Given the description of an element on the screen output the (x, y) to click on. 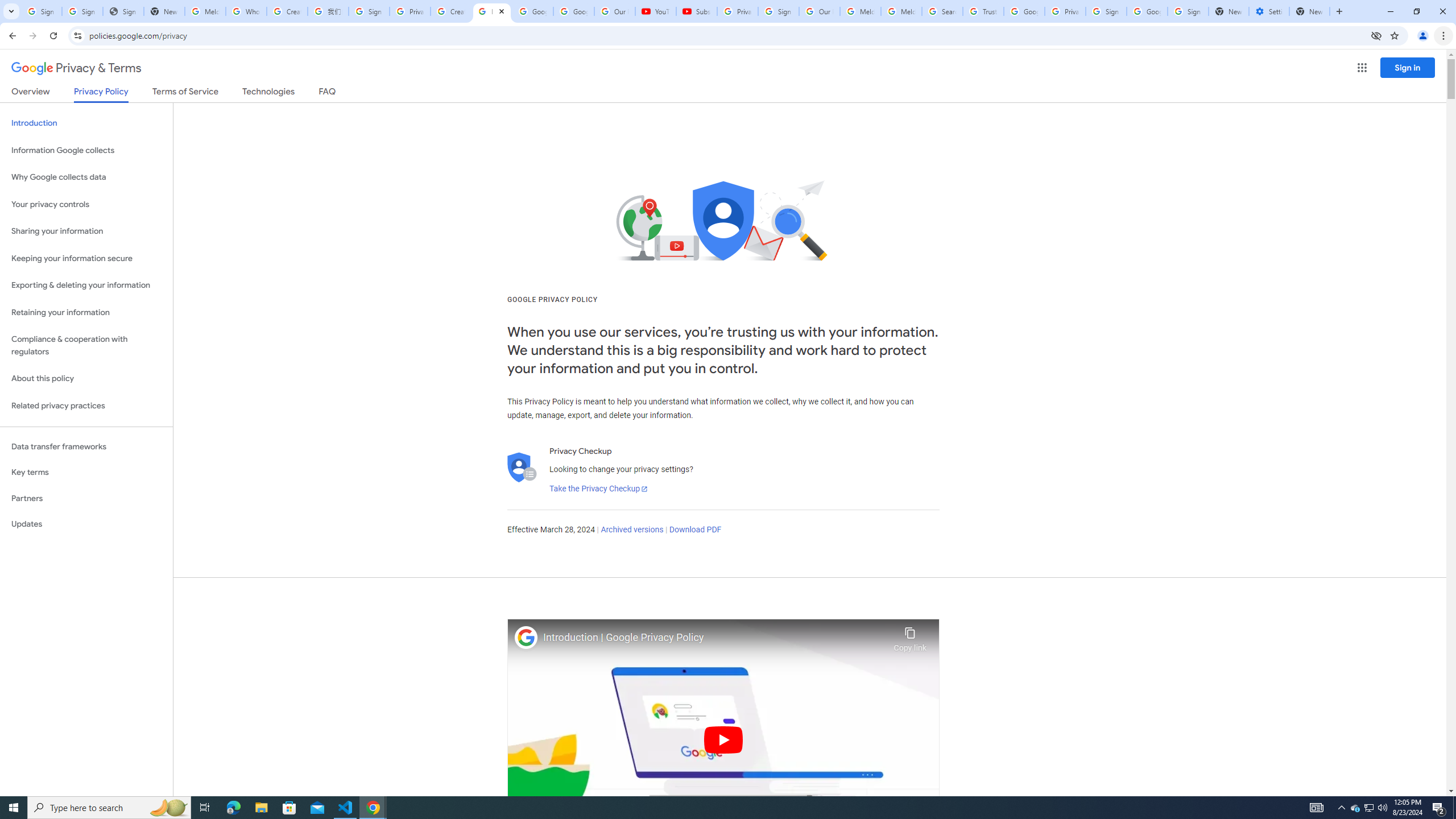
Photo image of Google (526, 636)
Introduction | Google Privacy Policy (715, 637)
Google Cybersecurity Innovations - Google Safety Center (1146, 11)
Play (723, 739)
